Given the description of an element on the screen output the (x, y) to click on. 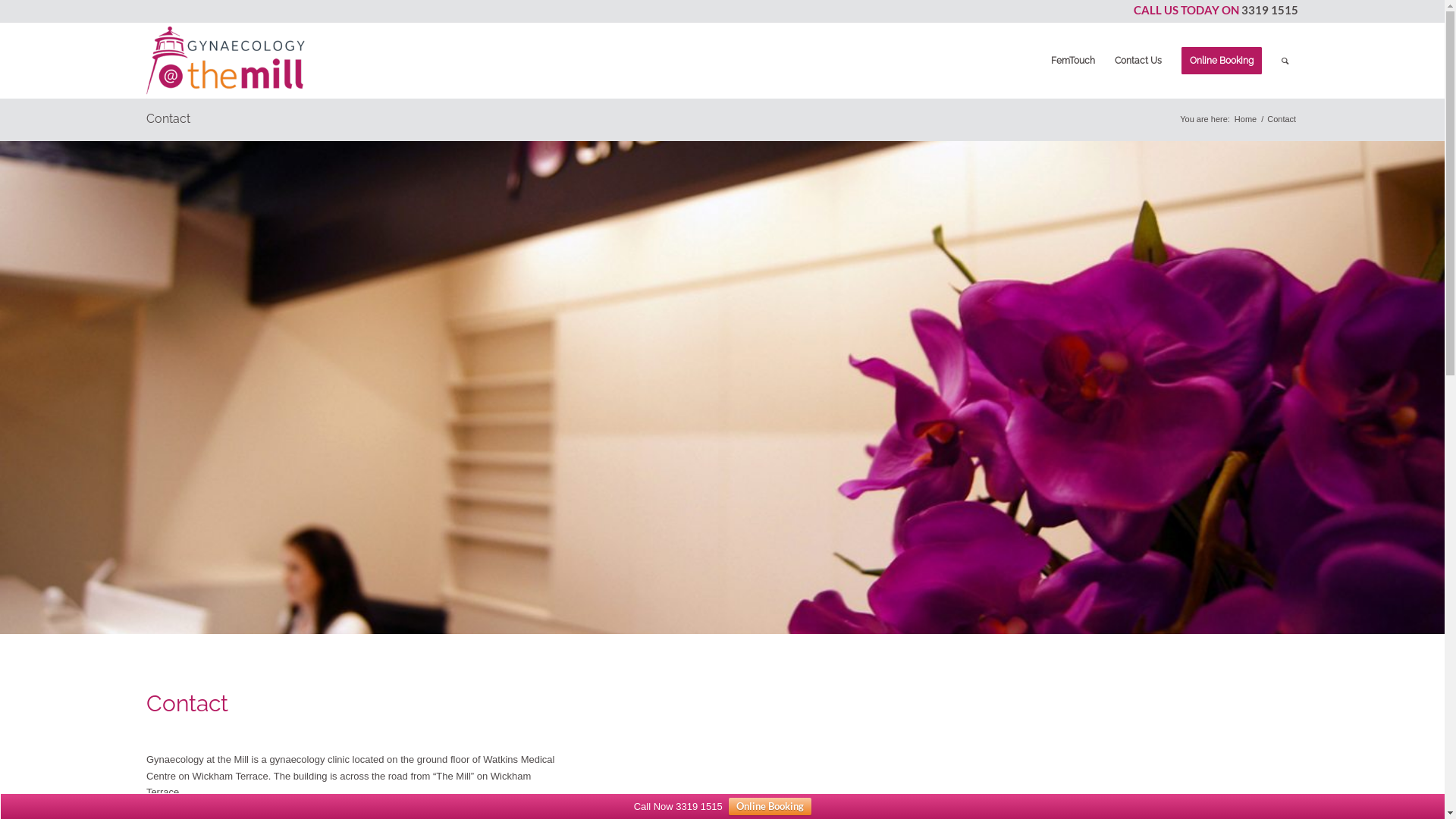
Home Element type: text (1245, 119)
Contact Element type: text (168, 118)
Online Booking Element type: text (1221, 60)
Online Booking Element type: text (769, 806)
Contact Us Element type: text (1137, 60)
FemTouch Element type: text (1072, 60)
